Given the description of an element on the screen output the (x, y) to click on. 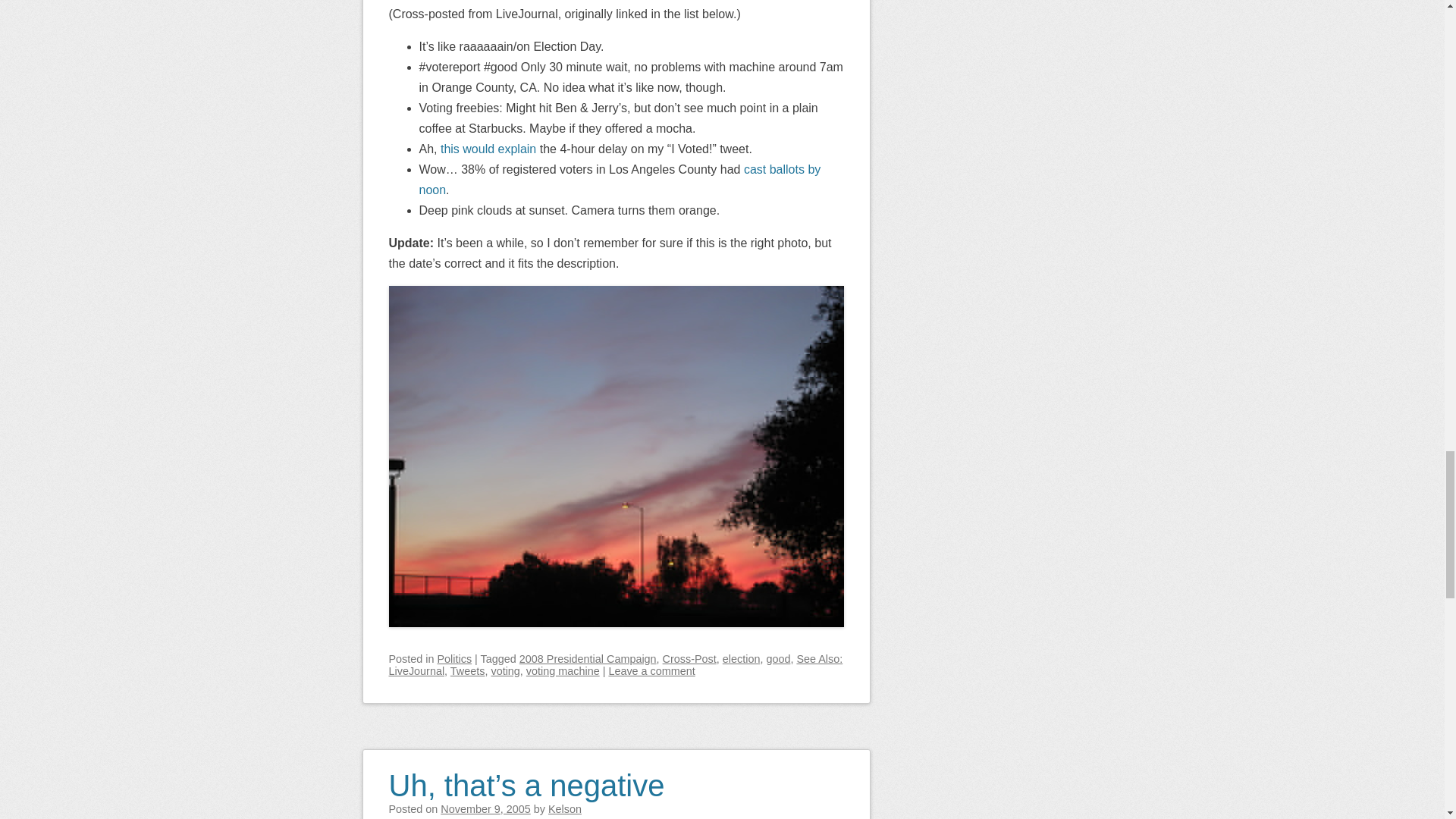
Cross-Post (689, 658)
voting (504, 671)
Leave a comment (651, 671)
November 9, 2005 (485, 808)
good (777, 658)
Kelson (564, 808)
2008 Presidential Campaign (587, 658)
See Also: LiveJournal (615, 664)
View all posts by Kelson (564, 808)
Tweets (466, 671)
voting machine (562, 671)
Politics (454, 658)
cast ballots by noon (620, 179)
this would explain (488, 148)
election (741, 658)
